Given the description of an element on the screen output the (x, y) to click on. 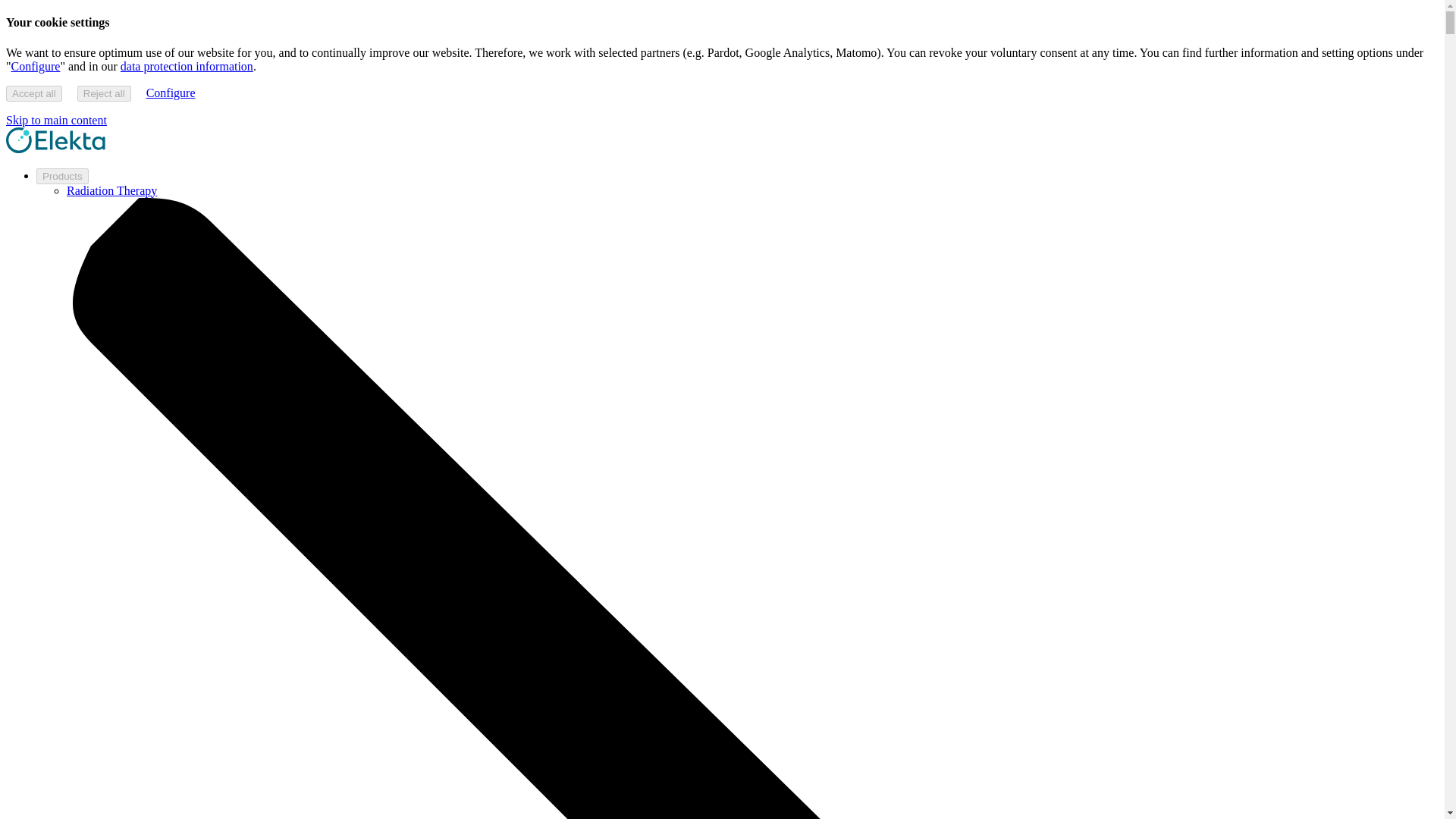
Accept all (33, 93)
Products (62, 176)
Configure (171, 92)
Configure (36, 65)
Skip to main content (55, 119)
Elekta (54, 148)
data protection information (186, 65)
Reject all (104, 93)
